Given the description of an element on the screen output the (x, y) to click on. 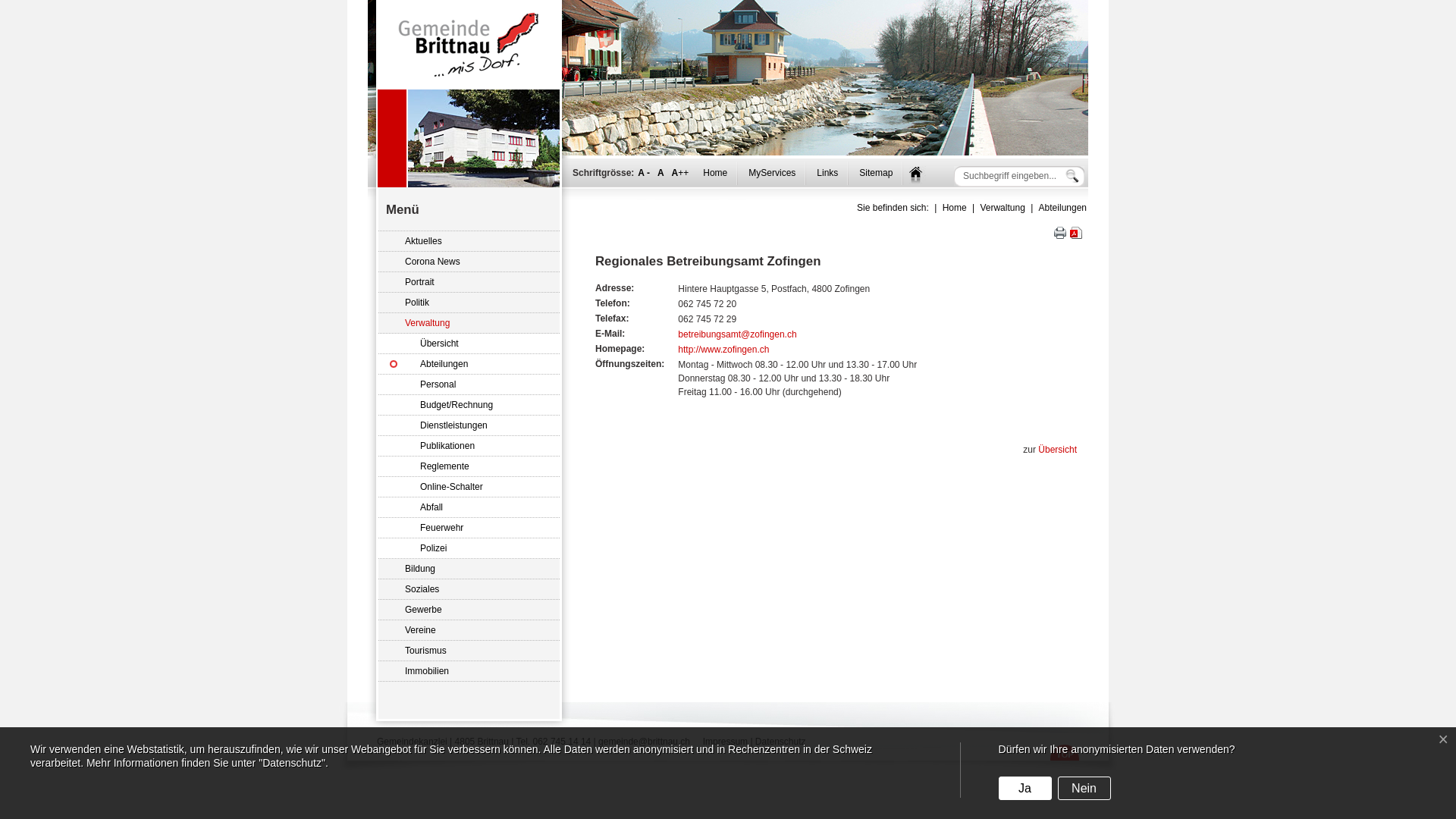
Corona News Element type: text (468, 261)
Aktuelles Element type: text (468, 241)
http://www.zofingen.ch Element type: text (722, 349)
Sitemap Element type: text (875, 172)
Home Element type: text (954, 207)
Impressum Element type: text (724, 741)
Links Element type: text (827, 172)
Polizei Element type: text (468, 548)
Datenschutz Element type: text (780, 741)
A - Element type: text (643, 172)
A Element type: text (660, 172)
Nein Element type: text (1083, 788)
Online-Schalter Element type: text (468, 486)
Portrait Element type: text (468, 282)
Soziales Element type: text (468, 589)
Ja Element type: text (1024, 788)
Publikationen Element type: text (468, 446)
Abteilungen Element type: text (1062, 207)
Reglemente Element type: text (468, 466)
betreibungsamt@zofingen.ch Element type: text (736, 334)
Abteilungen Element type: text (468, 364)
MyServices Element type: text (771, 172)
Verwaltung Element type: text (1001, 207)
Suchbegriff eingeben... Element type: text (1010, 175)
Abfall Element type: text (468, 507)
Politik Element type: text (468, 302)
Gemeinde Brittnau Element type: text (468, 44)
Personal Element type: text (468, 384)
Verwaltung Element type: text (468, 323)
Vereine Element type: text (468, 630)
Feuerwehr Element type: text (468, 527)
A++ Element type: text (680, 172)
Immobilien Element type: text (468, 671)
Bildung Element type: text (468, 568)
Home Element type: text (714, 172)
Gewerbe Element type: text (468, 609)
Dienstleistungen Element type: text (468, 425)
gemeinde@brittnau.ch Element type: text (644, 741)
Budget/Rechnung Element type: text (468, 405)
Tourismus Element type: text (468, 650)
